Given the description of an element on the screen output the (x, y) to click on. 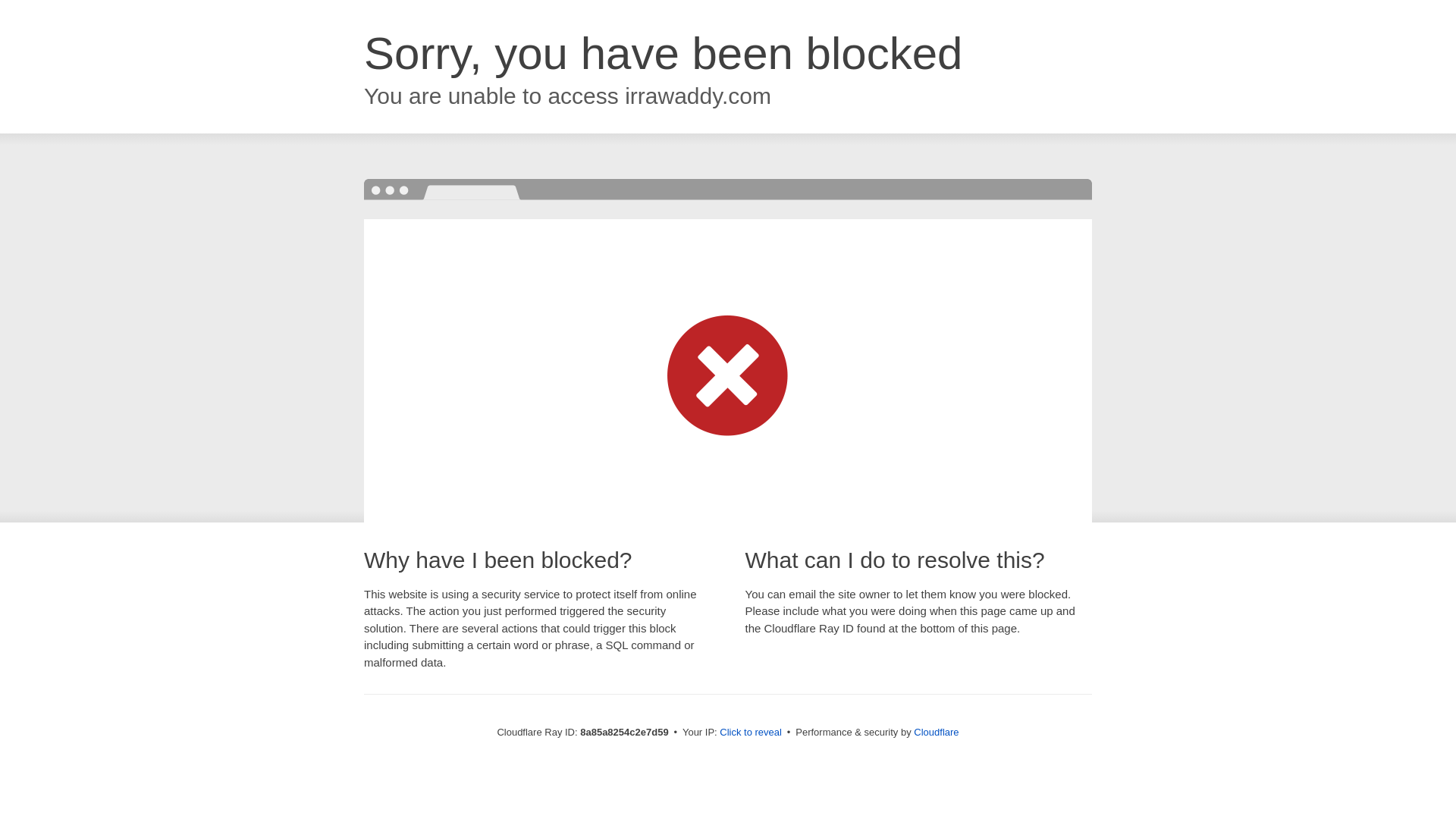
Click to reveal (750, 732)
Cloudflare (936, 731)
